Given the description of an element on the screen output the (x, y) to click on. 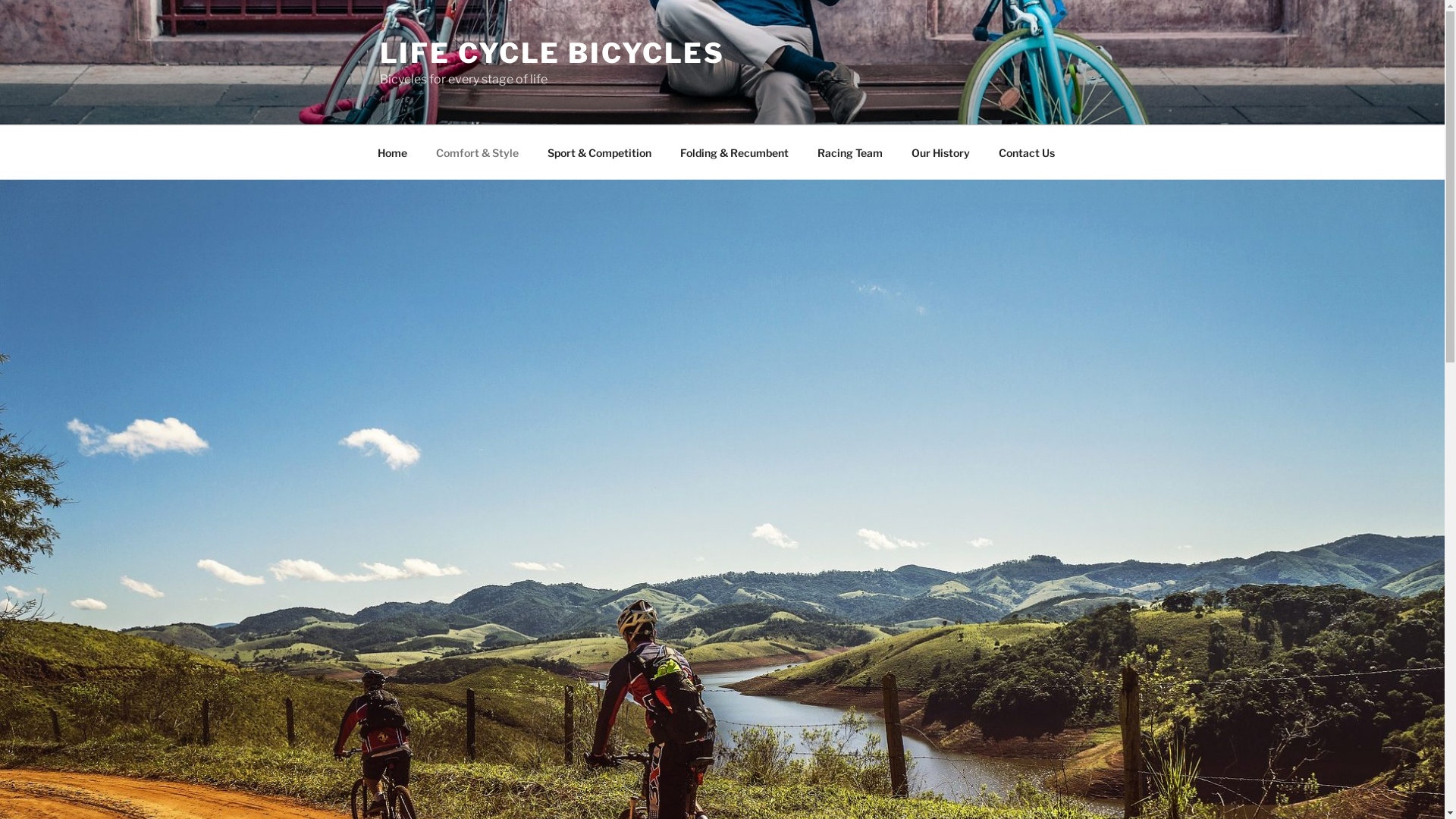
Skip to content Element type: text (0, 0)
Comfort & Style Element type: text (477, 151)
Folding & Recumbent Element type: text (734, 151)
LIFE CYCLE BICYCLES Element type: text (551, 52)
Contact Us Element type: text (1026, 151)
Racing Team Element type: text (849, 151)
Our History Element type: text (939, 151)
Home Element type: text (392, 151)
Sport & Competition Element type: text (598, 151)
